Given the description of an element on the screen output the (x, y) to click on. 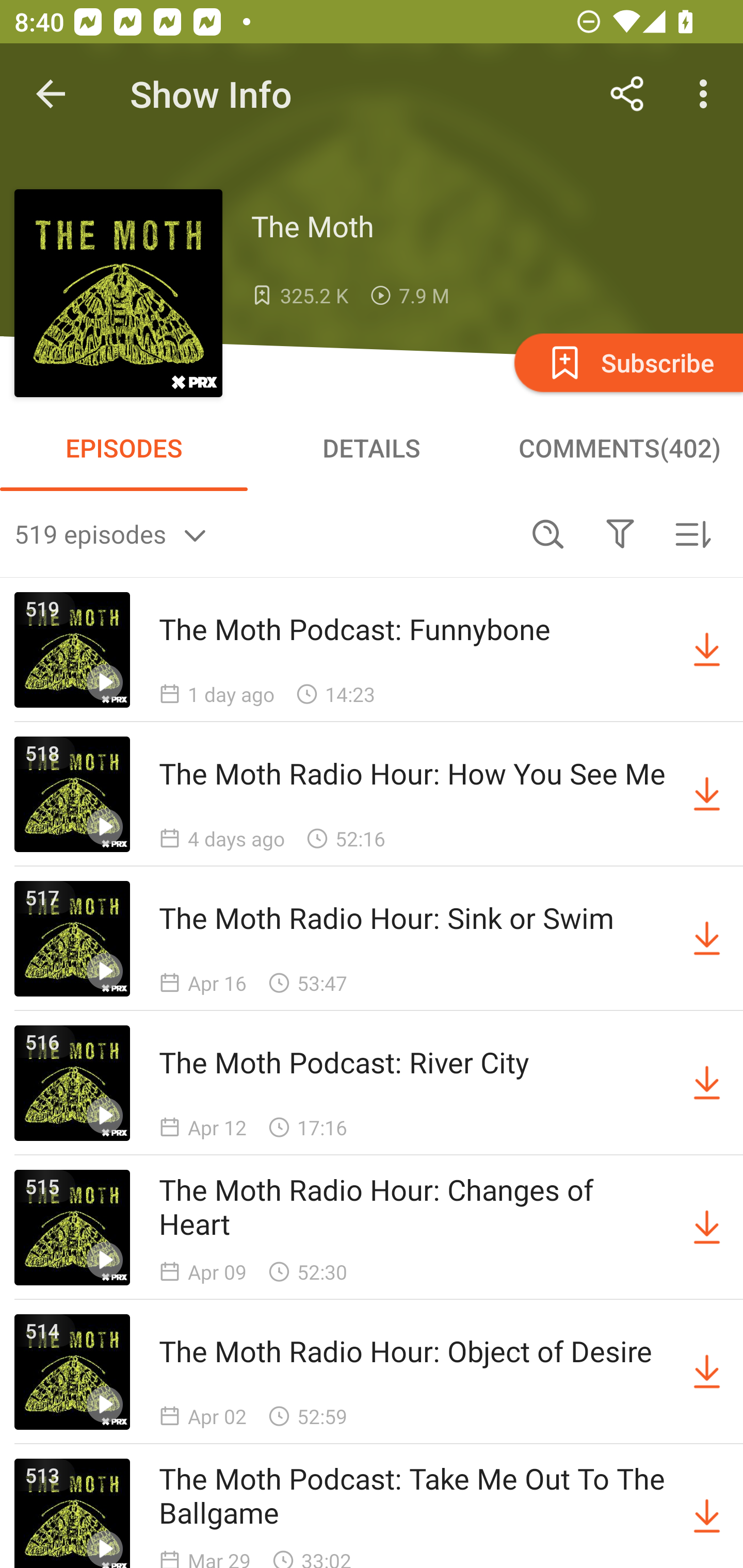
Navigate up (50, 93)
Share (626, 93)
More options (706, 93)
Subscribe (627, 361)
EPISODES (123, 447)
DETAILS (371, 447)
COMMENTS(402) (619, 447)
519 episodes  (262, 533)
 Search (547, 533)
 (619, 533)
 Sorted by newest first (692, 533)
Download (706, 649)
Download (706, 793)
Download (706, 939)
Download (706, 1083)
Download (706, 1227)
Download (706, 1371)
Download (706, 1513)
